Given the description of an element on the screen output the (x, y) to click on. 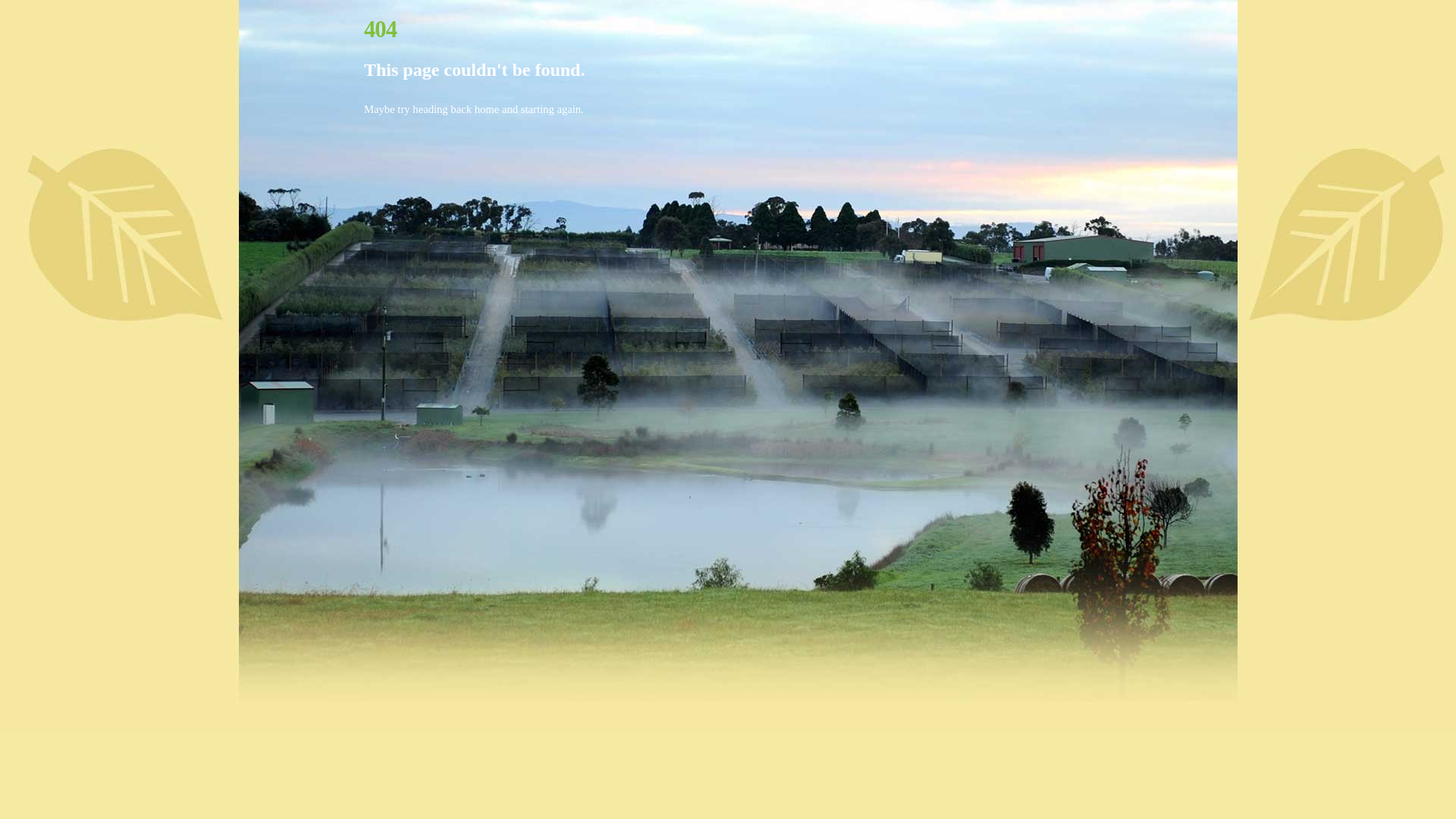
home Element type: text (486, 109)
